Given the description of an element on the screen output the (x, y) to click on. 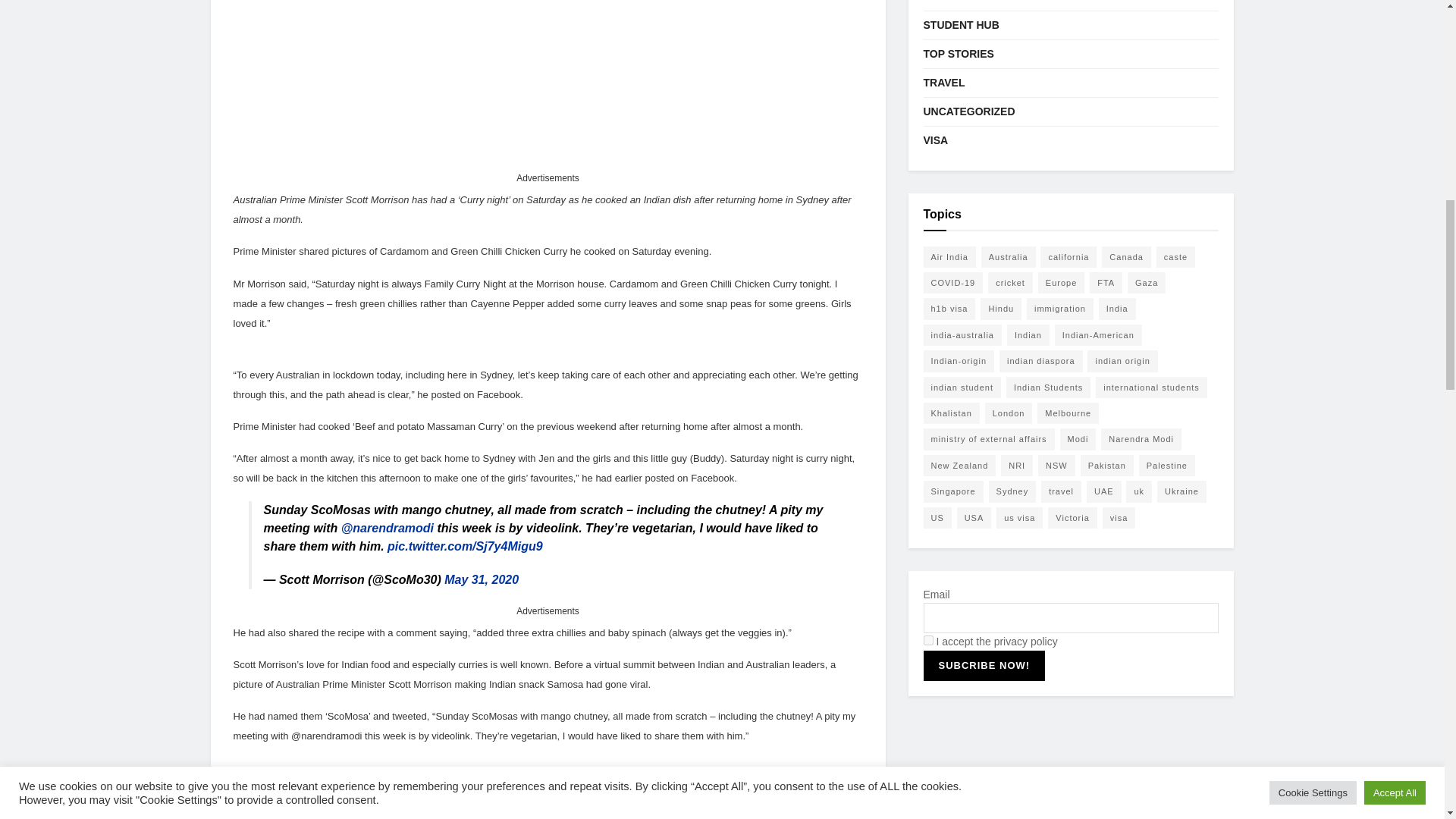
SUBCRIBE NOW! (984, 665)
on (928, 640)
Advertisement (547, 84)
